Given the description of an element on the screen output the (x, y) to click on. 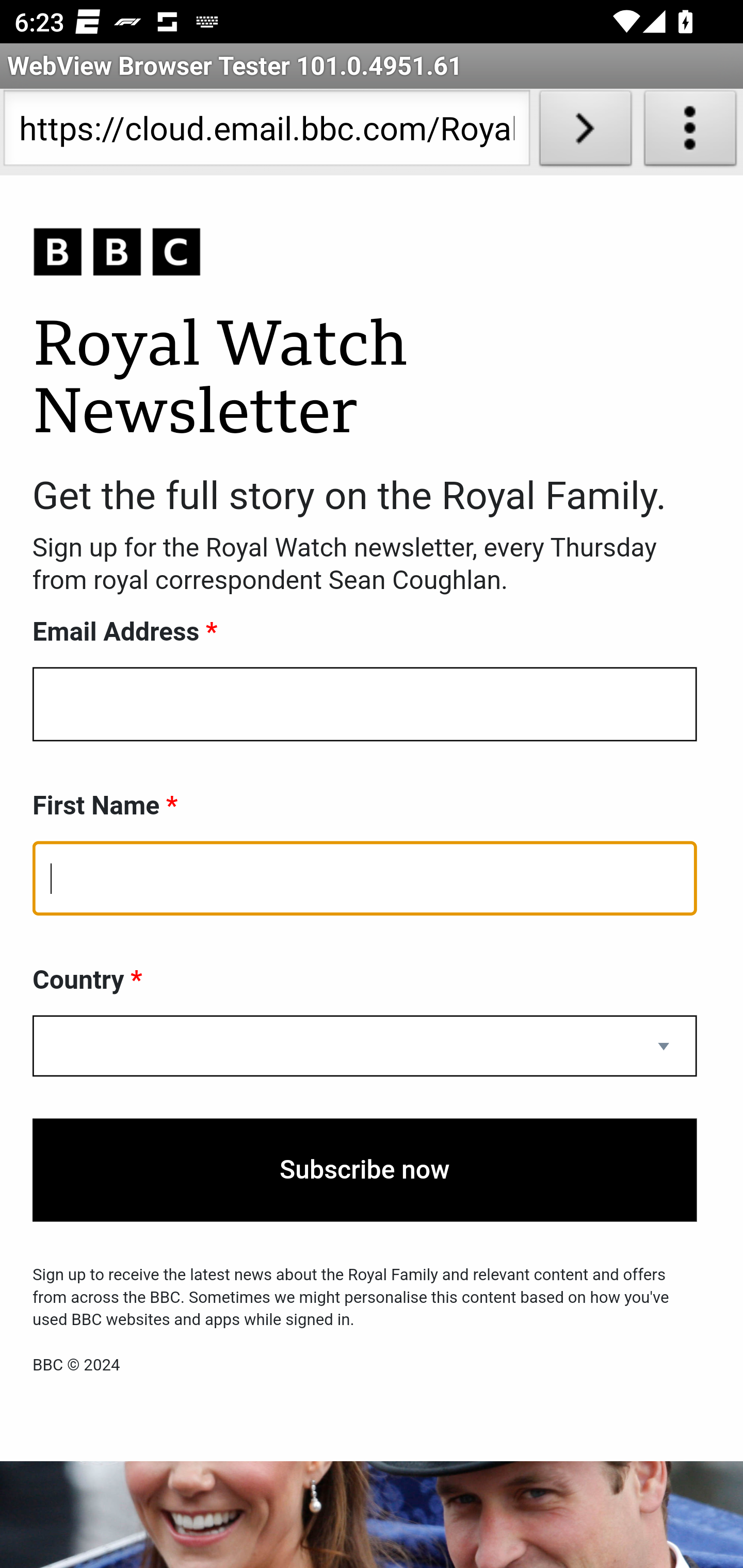
Load URL (585, 132)
About WebView (690, 132)
BBC (364, 253)
Subscribe now (364, 1170)
